Given the description of an element on the screen output the (x, y) to click on. 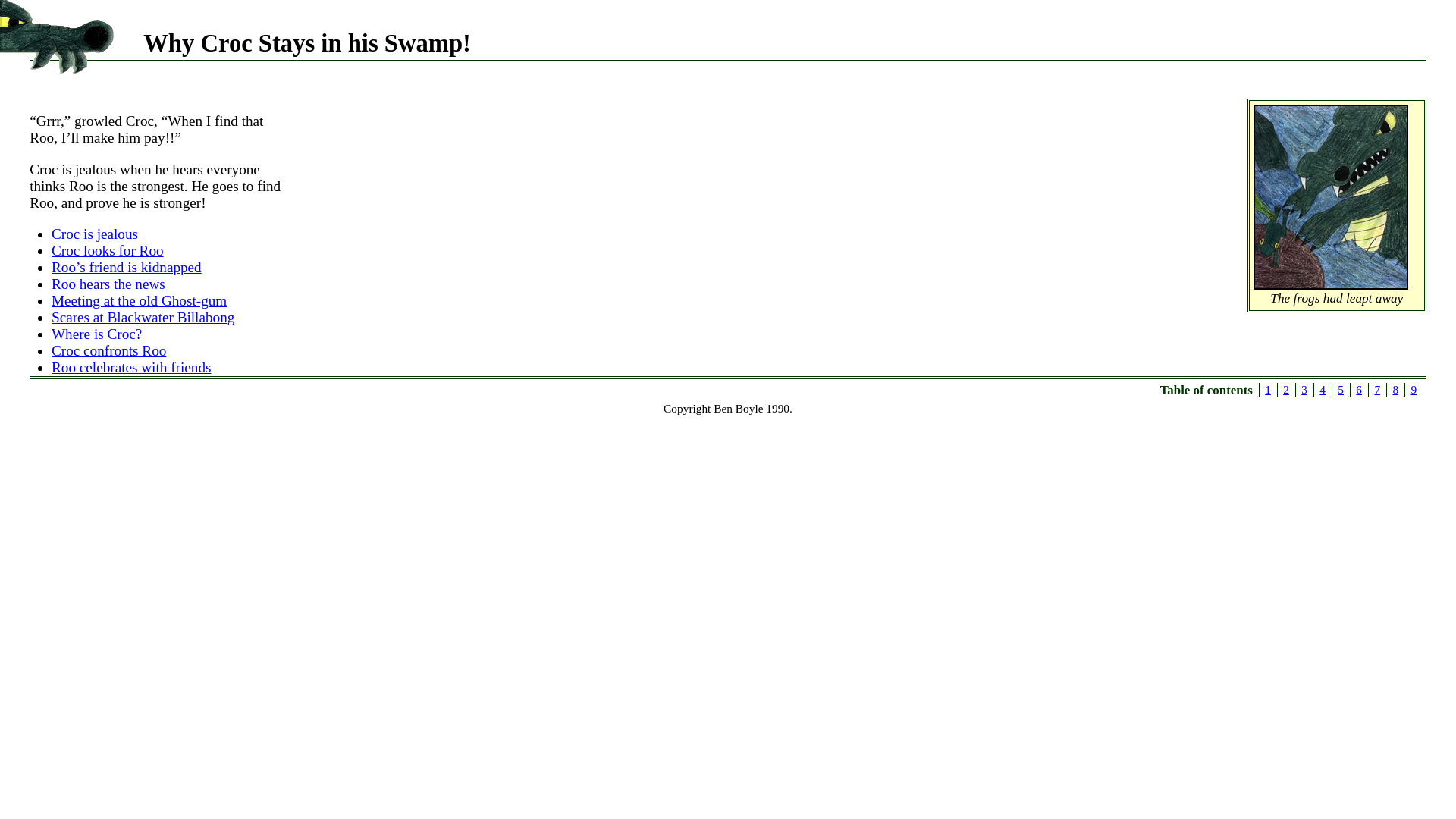
7 Element type: text (1377, 388)
5 Element type: text (1340, 388)
9 Element type: text (1413, 388)
1 Element type: text (1267, 388)
Croc looks for Roo Element type: text (107, 250)
8 Element type: text (1395, 388)
Scares at Blackwater Billabong Element type: text (142, 317)
Roo hears the news Element type: text (108, 283)
Croc is jealous Element type: text (94, 233)
6 Element type: text (1358, 388)
Croc confronts Roo Element type: text (108, 350)
4 Element type: text (1322, 388)
2 Element type: text (1286, 388)
Meeting at the old Ghost-gum Element type: text (138, 300)
Roo celebrates with friends Element type: text (130, 367)
Where is Croc? Element type: text (96, 334)
3 Element type: text (1304, 388)
